Given the description of an element on the screen output the (x, y) to click on. 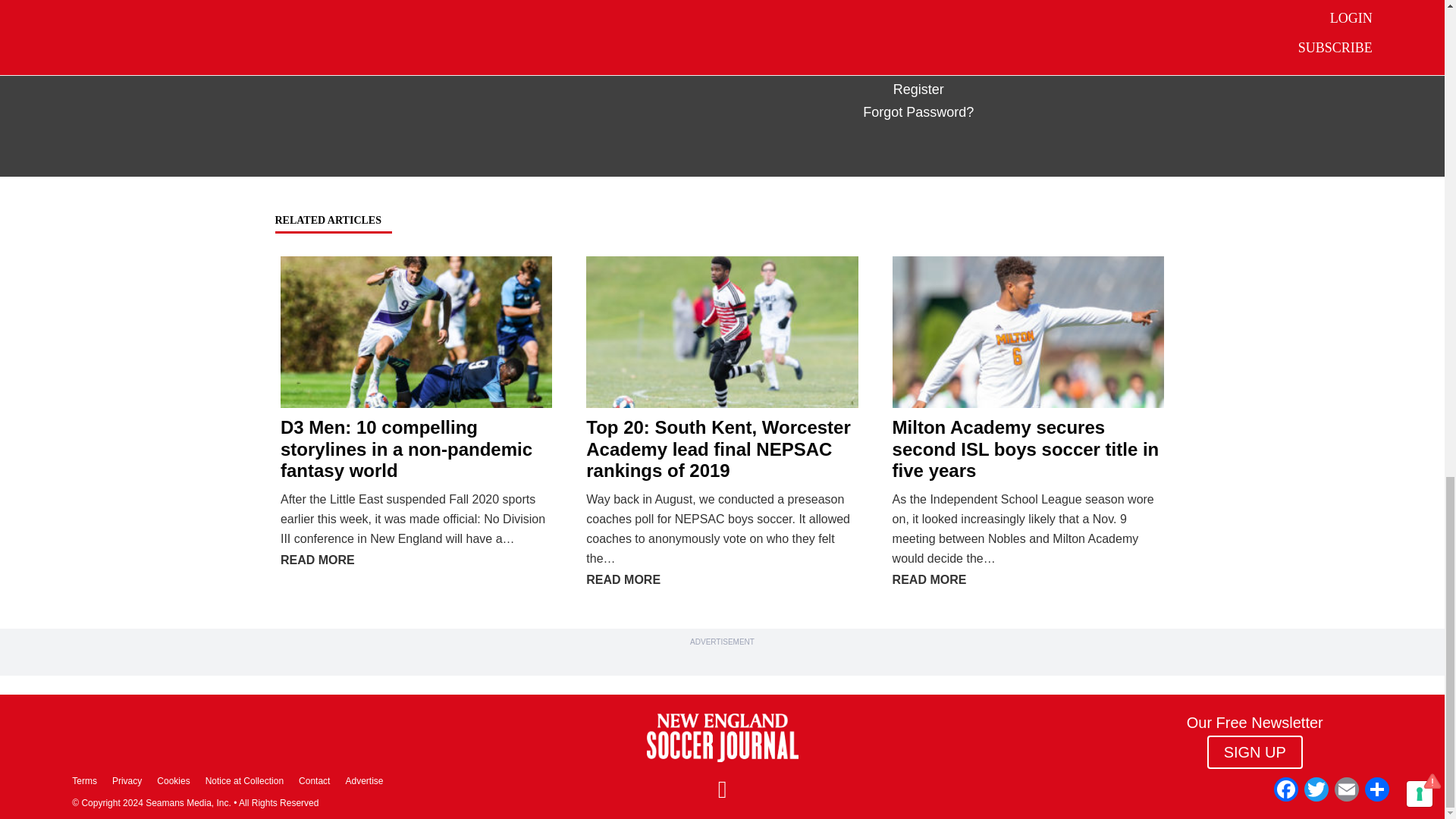
READ MORE (318, 559)
READ MORE (623, 579)
Register (918, 89)
Login (860, 42)
Forgot Password? (918, 111)
Login (860, 42)
Register (918, 89)
Forgot Password? (918, 111)
